Given the description of an element on the screen output the (x, y) to click on. 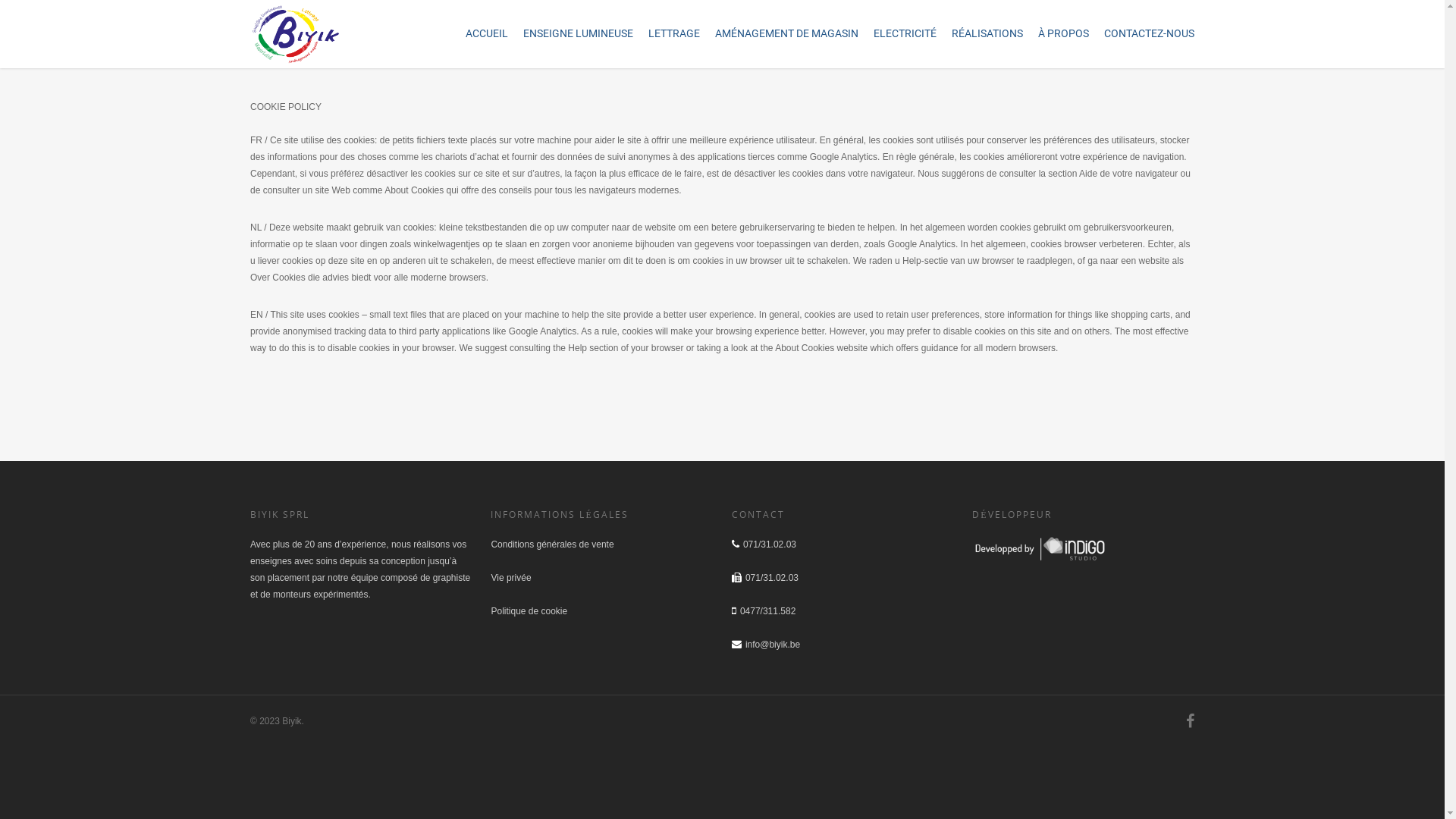
ENSEIGNE LUMINEUSE Element type: text (578, 35)
CONTACTEZ-NOUS Element type: text (1149, 35)
LETTRAGE Element type: text (673, 35)
Politique de cookie Element type: text (528, 610)
ACCUEIL Element type: text (486, 35)
